Given the description of an element on the screen output the (x, y) to click on. 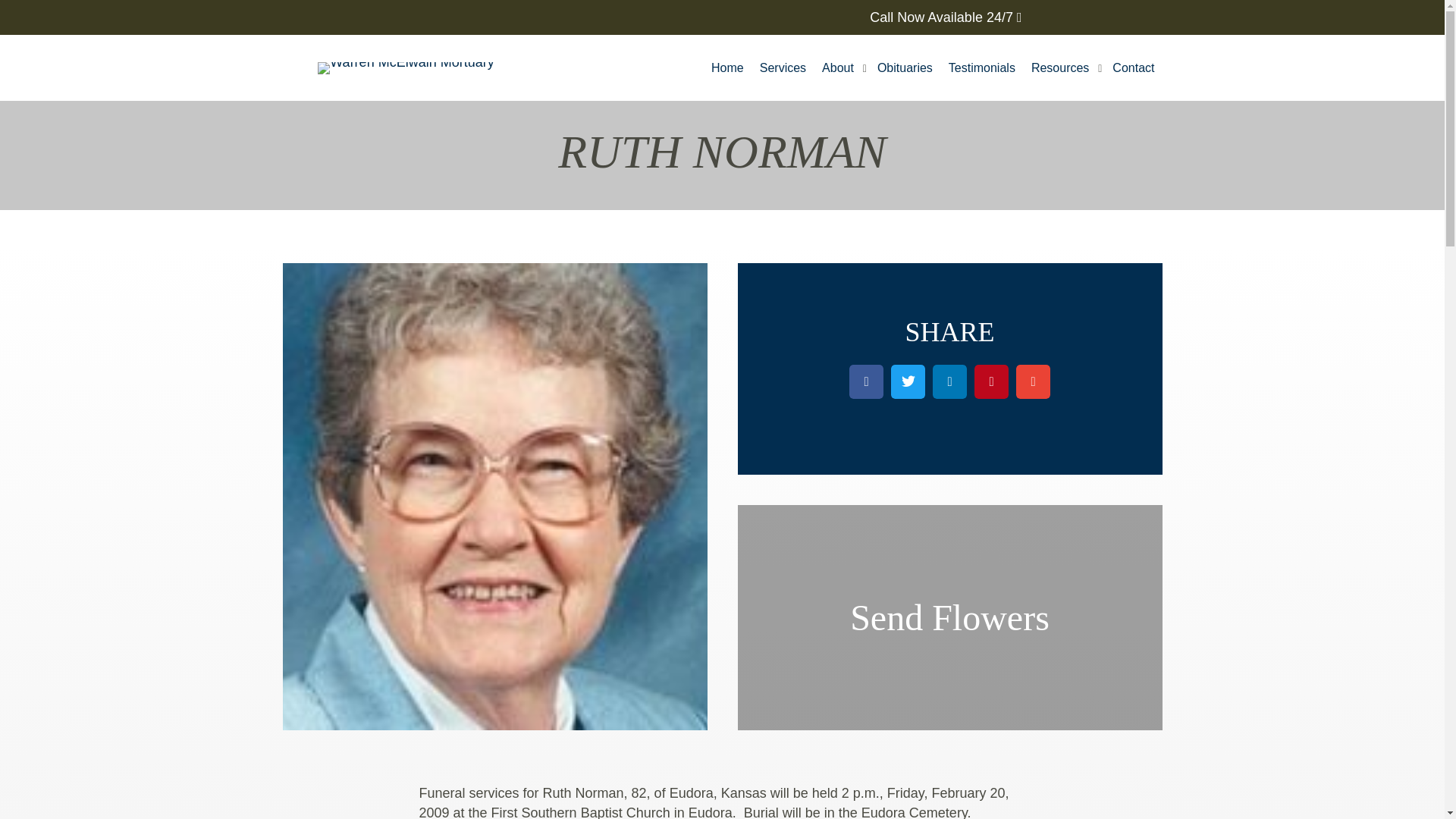
Contact (1133, 67)
Obituaries (904, 67)
Services (782, 67)
About (841, 67)
Testimonials (981, 67)
Home (727, 67)
Send Flowers (949, 617)
Warren McElwain Mortuary (405, 68)
Resources (1063, 67)
